Given the description of an element on the screen output the (x, y) to click on. 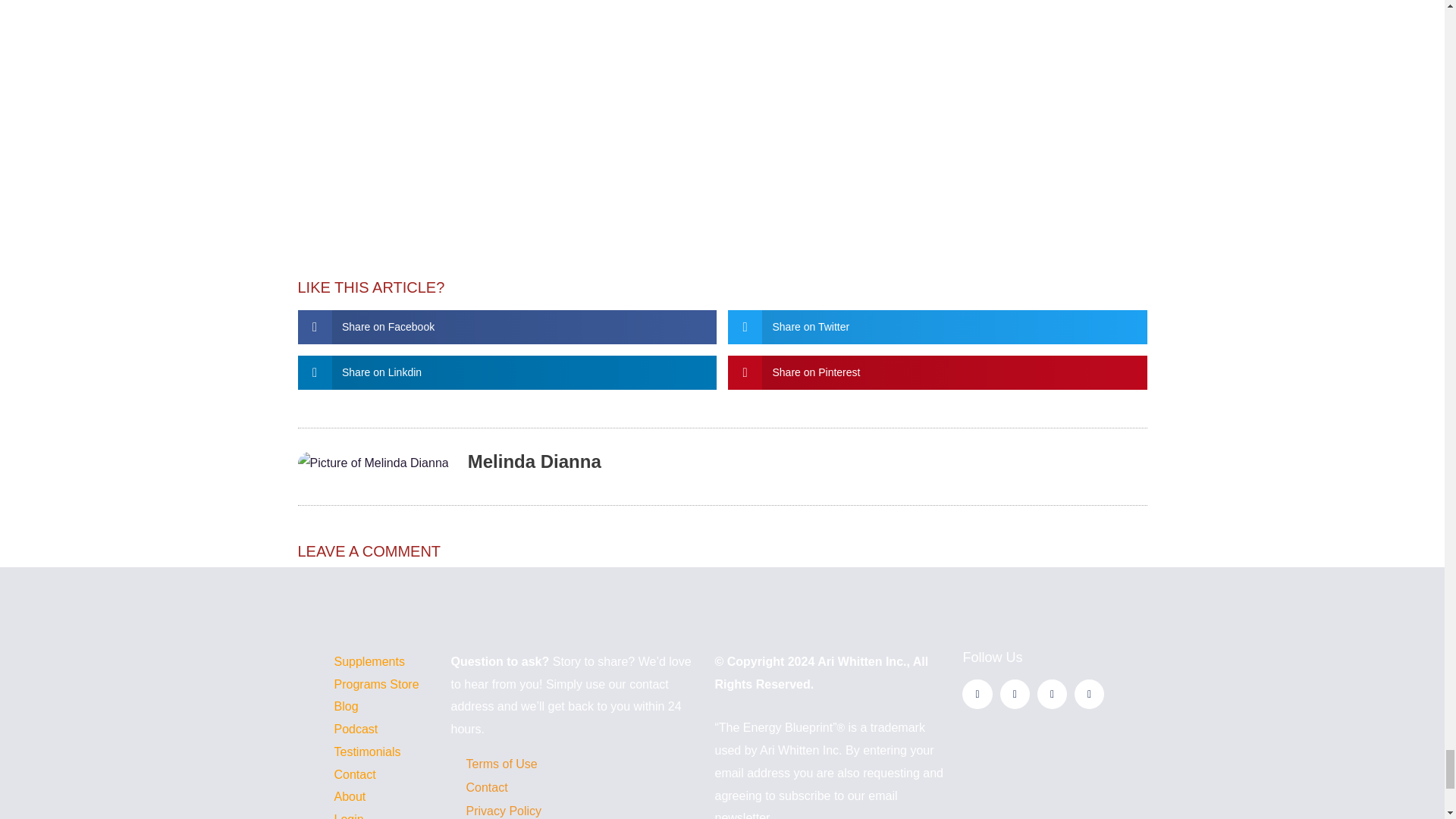
Privacy Policy (573, 806)
Supplements (368, 661)
Blog (345, 706)
Programs Store (376, 684)
Contact (573, 787)
Contact (354, 774)
Podcast (355, 728)
Login (347, 816)
Testimonials (366, 751)
Terms of Use (573, 764)
